Given the description of an element on the screen output the (x, y) to click on. 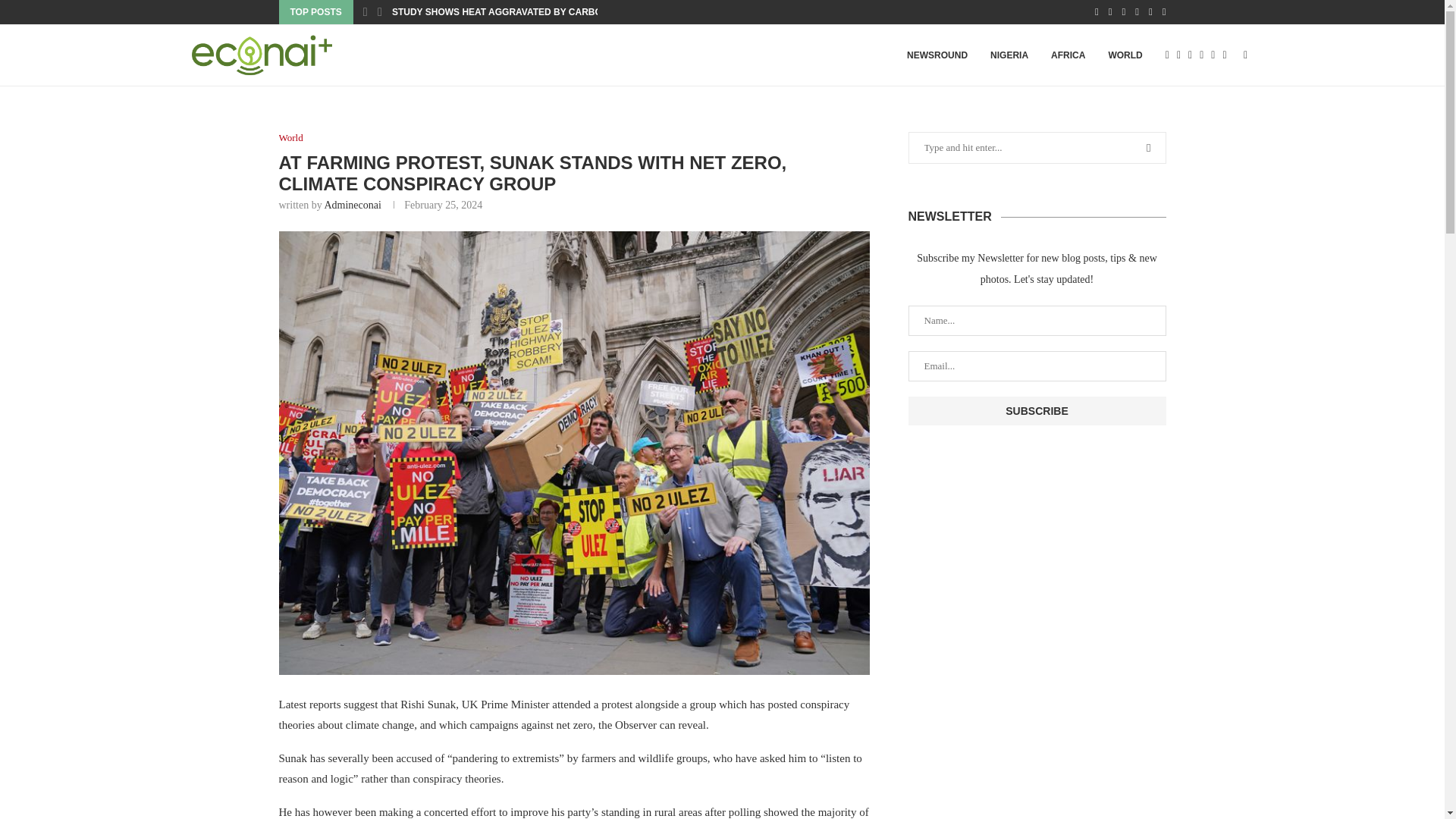
NEWSROUND (937, 55)
Subscribe (1037, 410)
STUDY SHOWS HEAT AGGRAVATED BY CARBON POLLUTION KILLED... (548, 12)
